Given the description of an element on the screen output the (x, y) to click on. 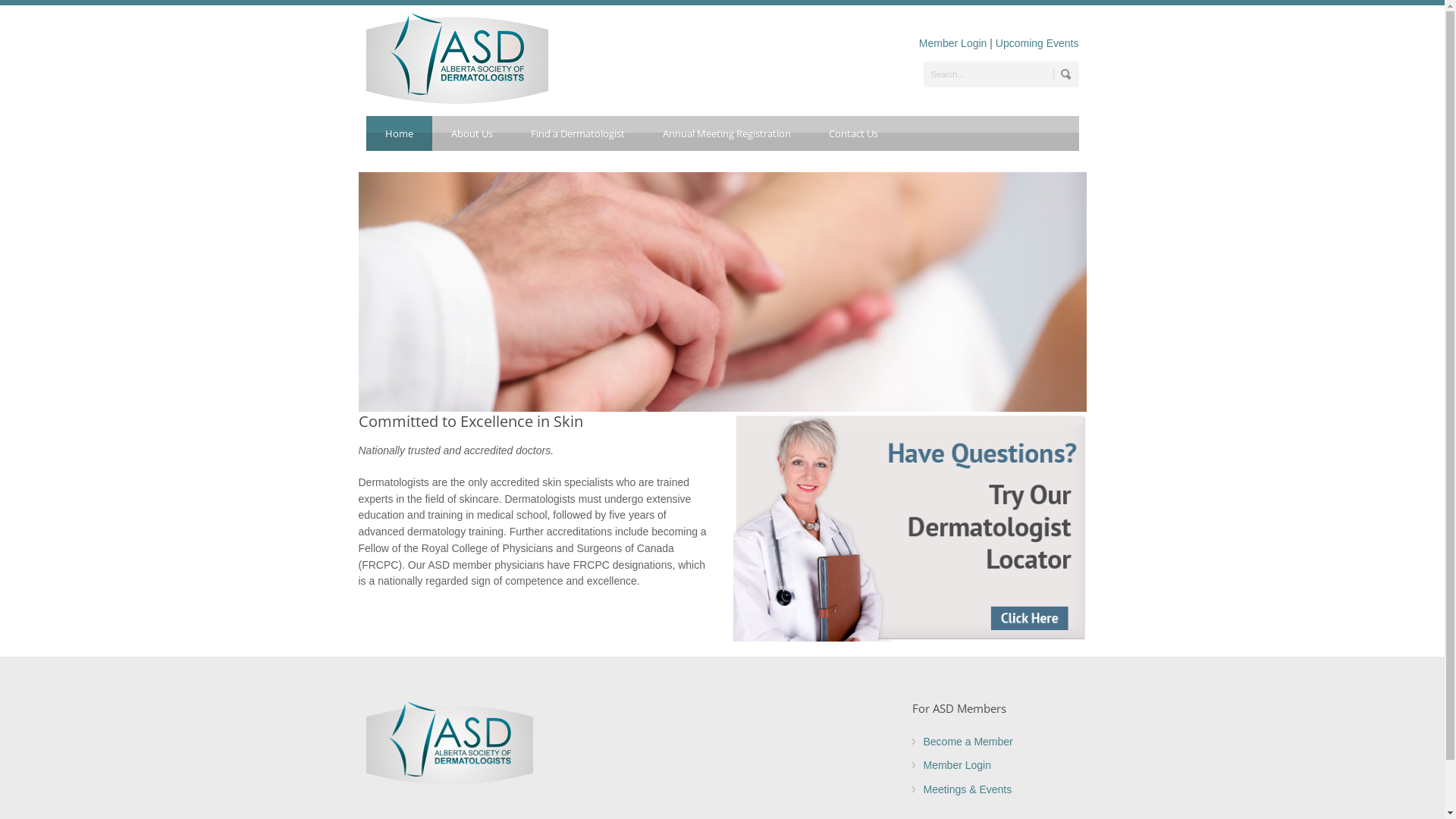
Find a Dermatologist Element type: text (577, 133)
Member Login Element type: text (957, 765)
Upcoming Events Element type: text (1037, 43)
Become a Member Element type: text (968, 741)
Annual Meeting Registration Element type: text (726, 133)
Home Element type: text (398, 133)
About Us Element type: text (471, 133)
Meetings & Events Element type: text (967, 789)
Member Login Element type: text (953, 43)
Contact Us Element type: text (853, 133)
